Given the description of an element on the screen output the (x, y) to click on. 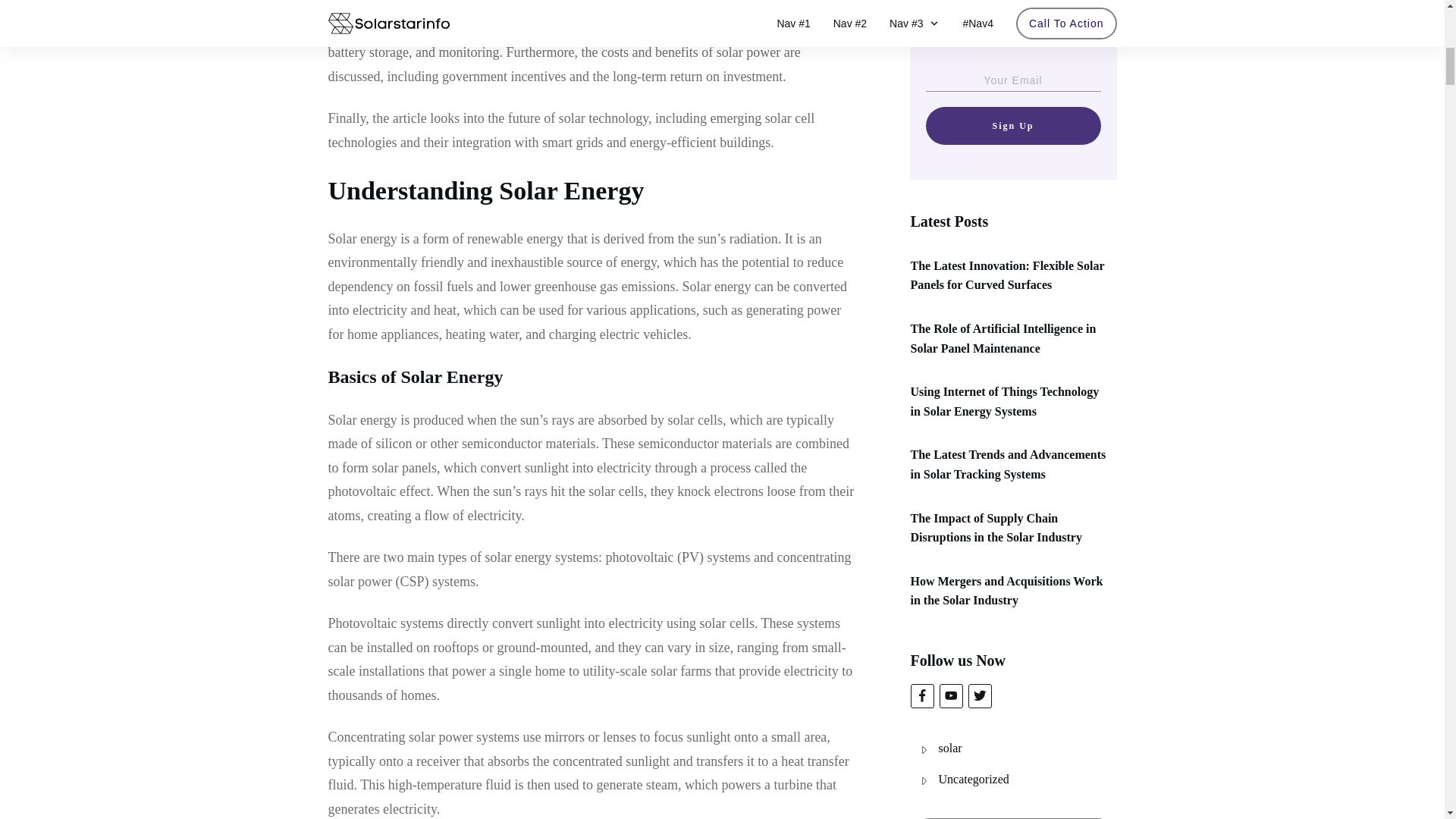
Sign Up (1012, 125)
Using Internet of Things Technology in Solar Energy Systems (1004, 400)
How Mergers and Acquisitions Work in the Solar Industry (1006, 590)
Using Internet of Things Technology in Solar Energy Systems (1004, 400)
Uncategorized (974, 779)
solar (950, 748)
The Latest Trends and Advancements in Solar Tracking Systems (1007, 463)
The Latest Trends and Advancements in Solar Tracking Systems (1007, 463)
The Impact of Supply Chain Disruptions in the Solar Industry (995, 527)
The Impact of Supply Chain Disruptions in the Solar Industry (995, 527)
How Mergers and Acquisitions Work in the Solar Industry (1006, 590)
